Given the description of an element on the screen output the (x, y) to click on. 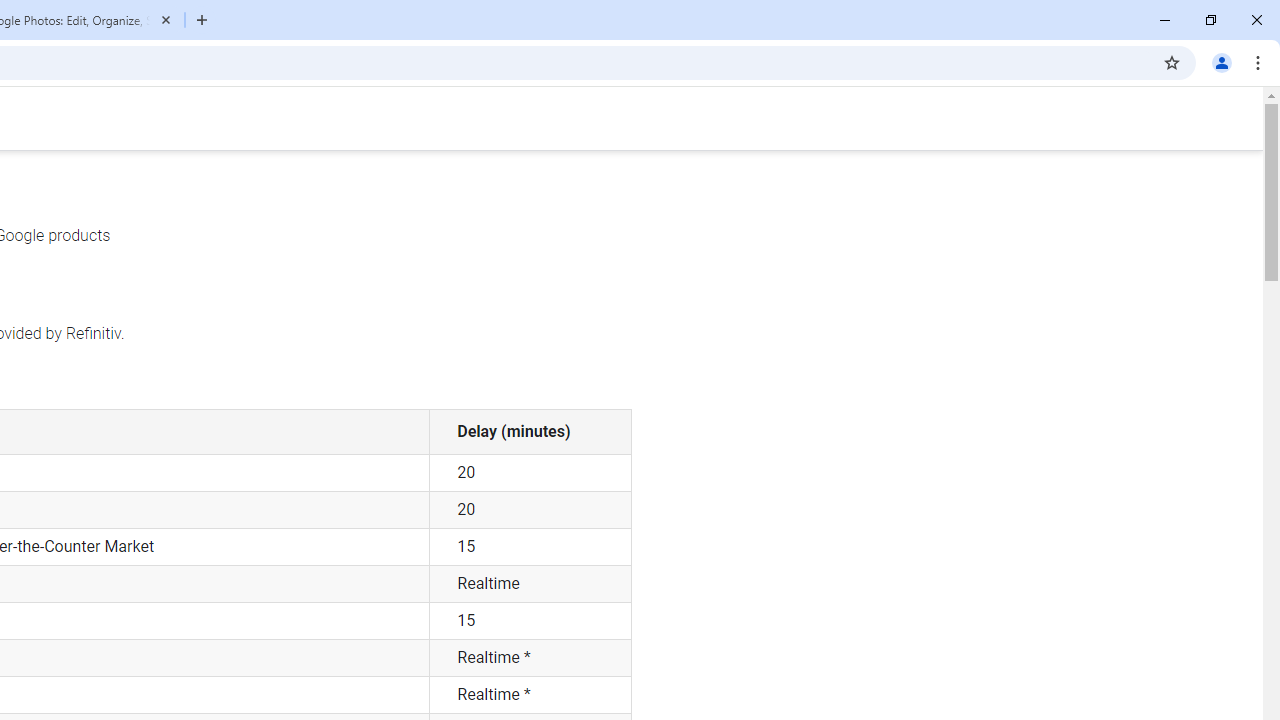
Realtime * (529, 695)
20 (529, 510)
Realtime (529, 584)
15 (529, 620)
